Given the description of an element on the screen output the (x, y) to click on. 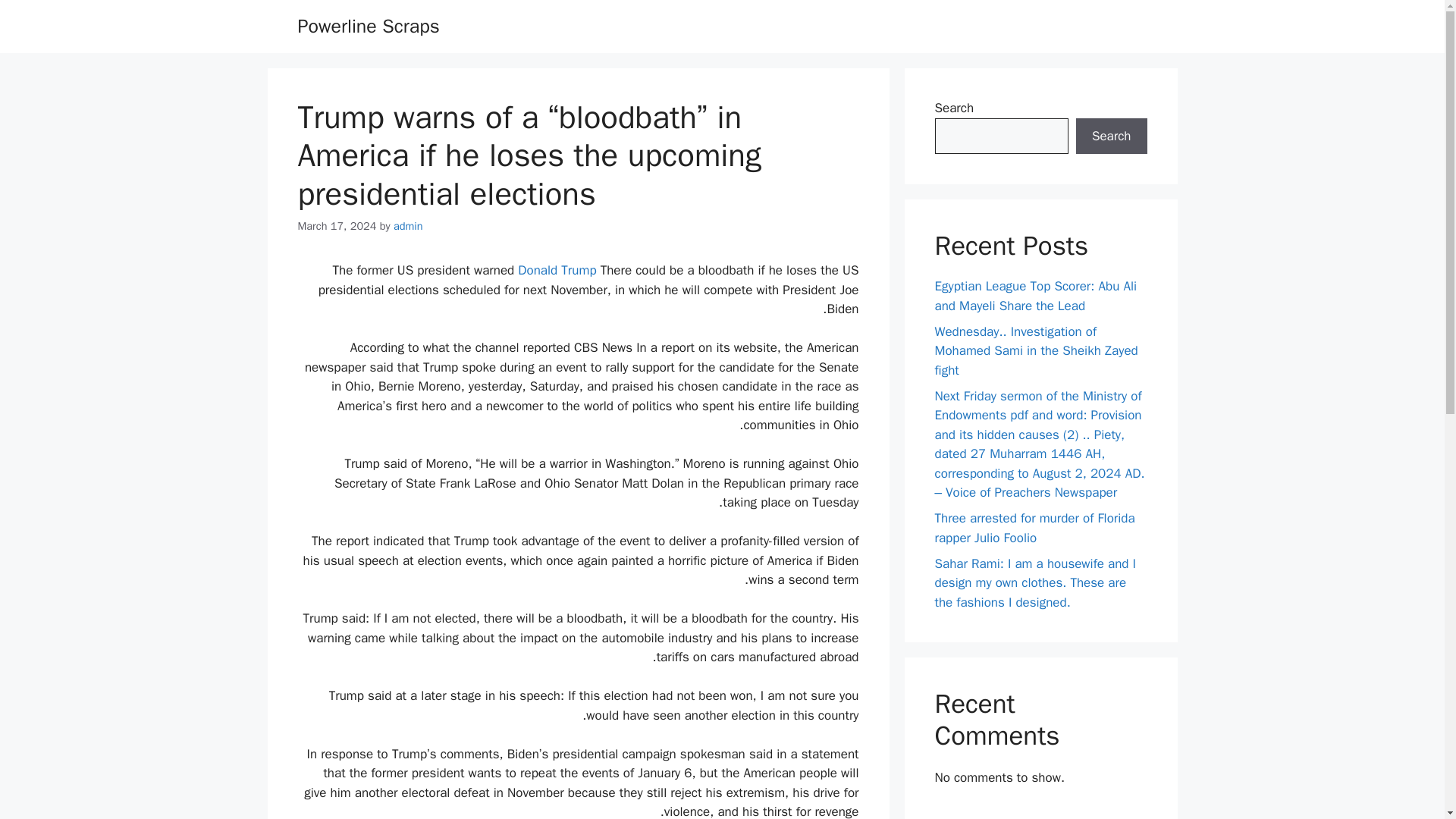
Three arrested for murder of Florida rapper Julio Foolio (1034, 528)
Powerline Scraps (368, 25)
View all posts by admin (408, 225)
Donald Trump (556, 270)
Search (1111, 135)
admin (408, 225)
